Given the description of an element on the screen output the (x, y) to click on. 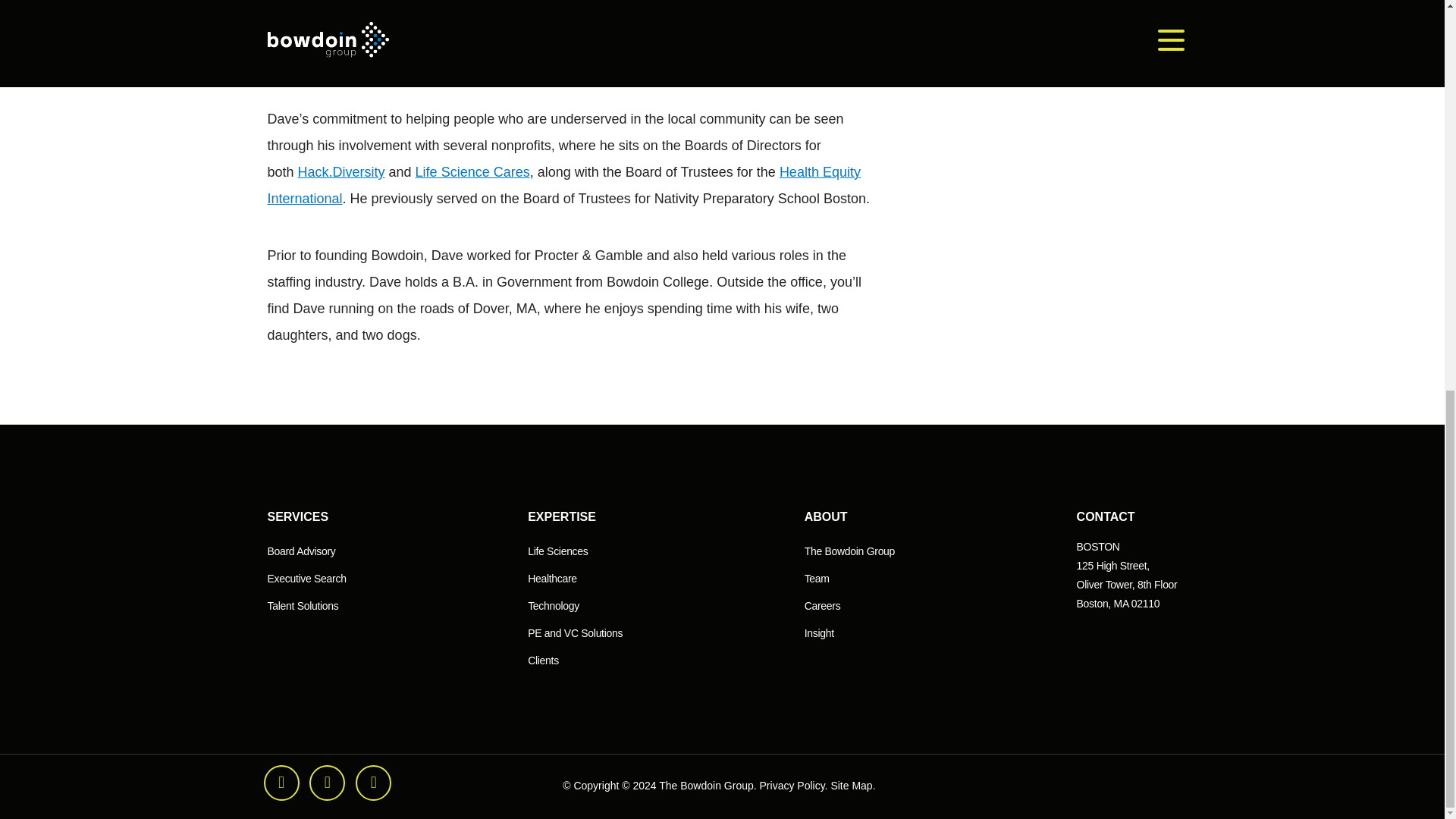
EXPERTISE (561, 516)
Talent Solutions (301, 606)
Technology (553, 606)
Life Sciences (557, 551)
Board Advisory (300, 551)
Health Equity International (563, 185)
Healthcare (551, 578)
Hack.Diversity (341, 171)
Life Science Cares (471, 171)
SERVICES (297, 516)
